Given the description of an element on the screen output the (x, y) to click on. 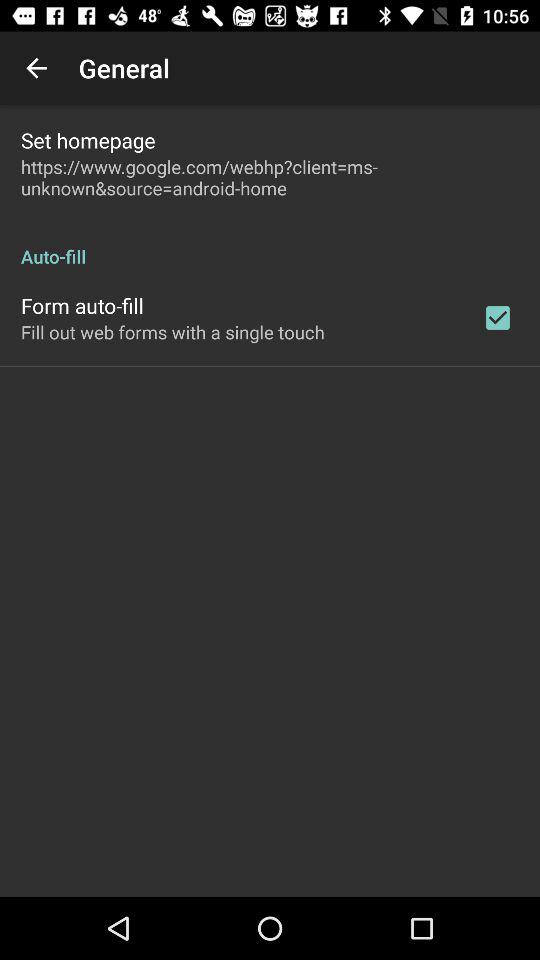
open app below the form auto-fill app (172, 331)
